Given the description of an element on the screen output the (x, y) to click on. 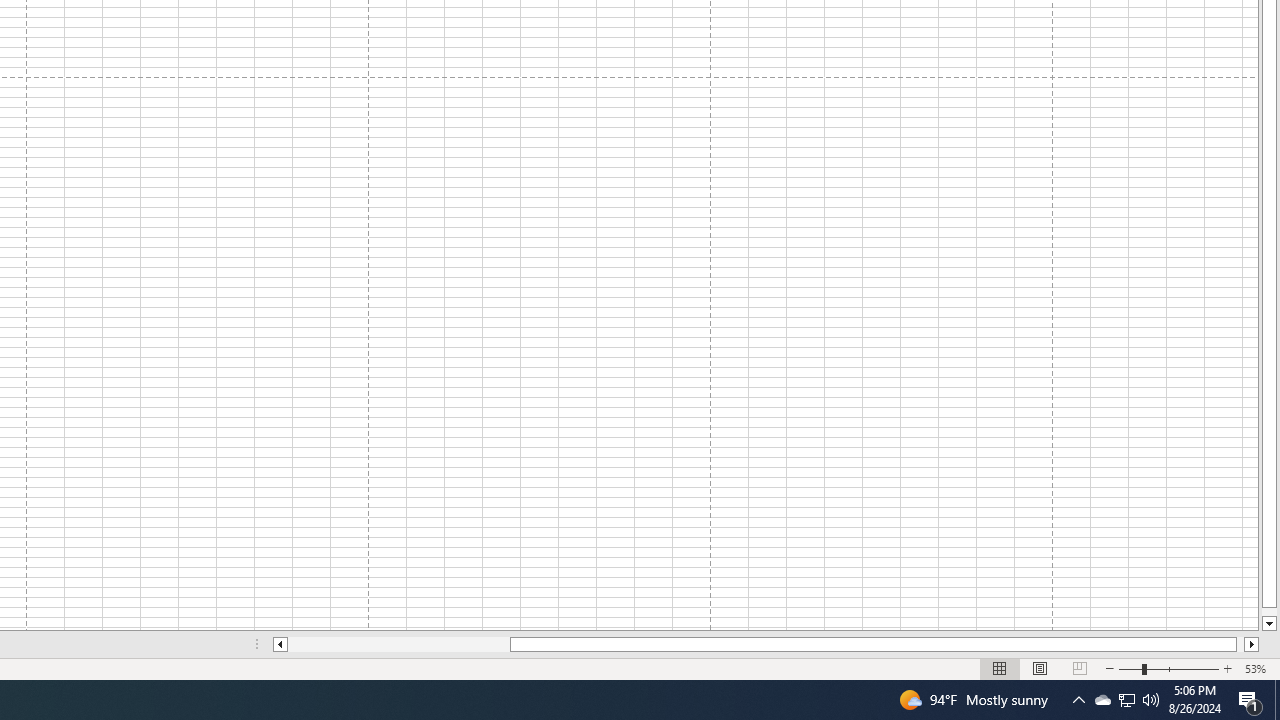
Zoom (1168, 668)
Line down (1268, 624)
Page Layout (1039, 668)
Zoom In (1227, 668)
Class: NetUIScrollBar (765, 644)
Zoom Out (1129, 668)
Page down (1268, 611)
Normal (1000, 668)
Column left (279, 644)
Page Break Preview (1079, 668)
Page left (398, 644)
Page right (1240, 644)
Column right (1252, 644)
